Given the description of an element on the screen output the (x, y) to click on. 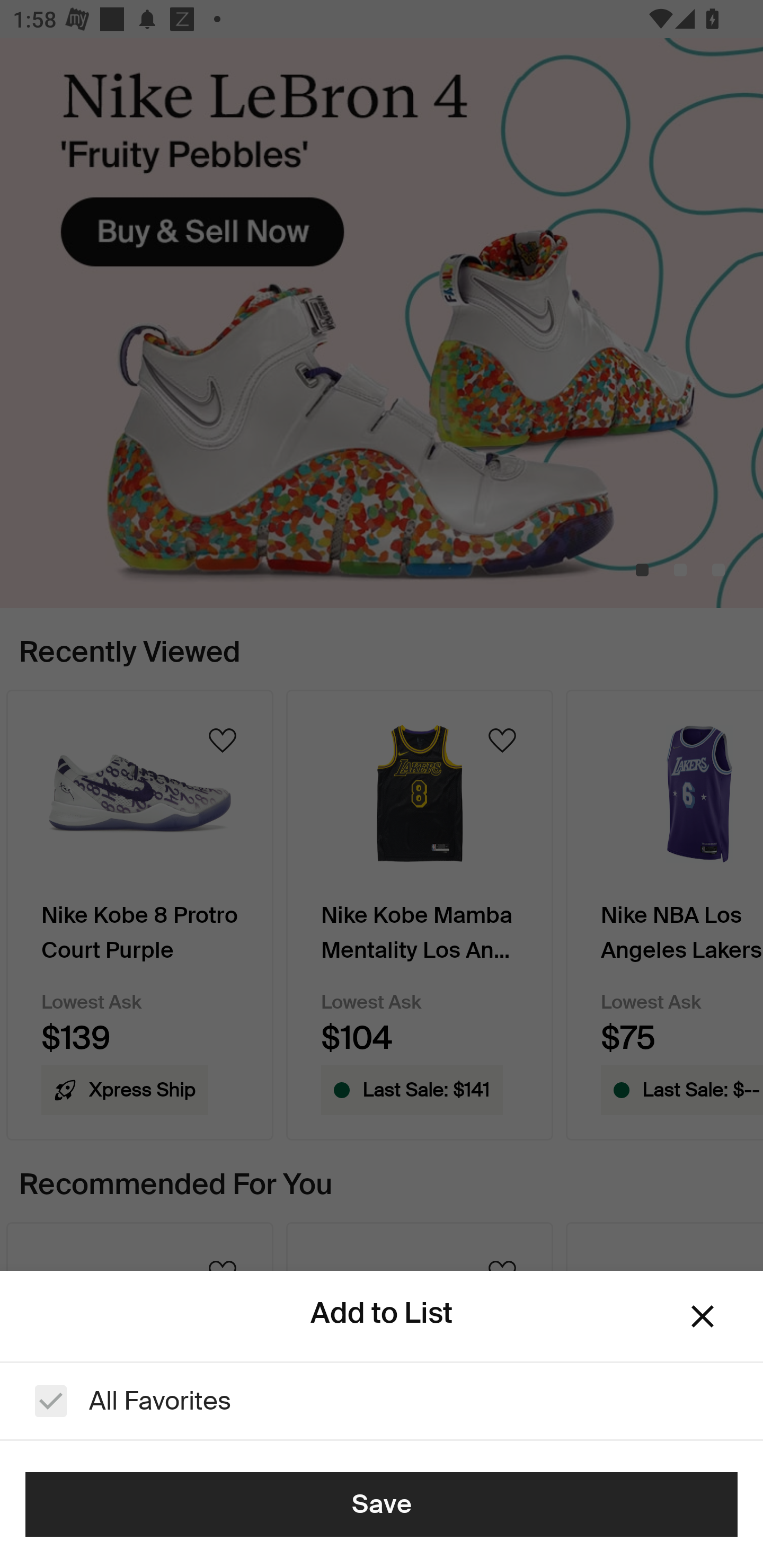
Dismiss (702, 1315)
All Favorites (381, 1400)
Save (381, 1504)
